Given the description of an element on the screen output the (x, y) to click on. 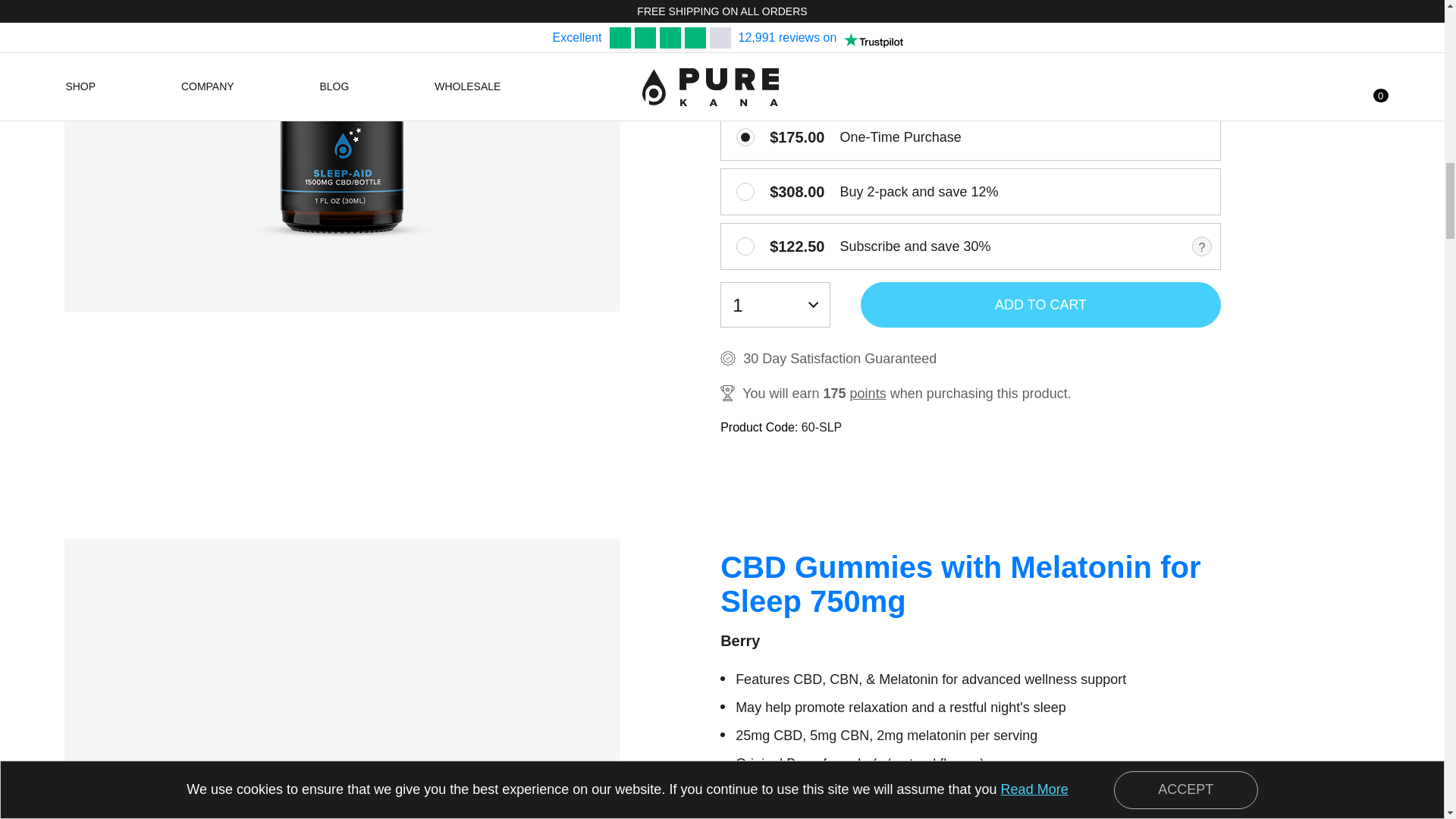
2 (745, 191)
0 (745, 136)
1 (745, 246)
